Given the description of an element on the screen output the (x, y) to click on. 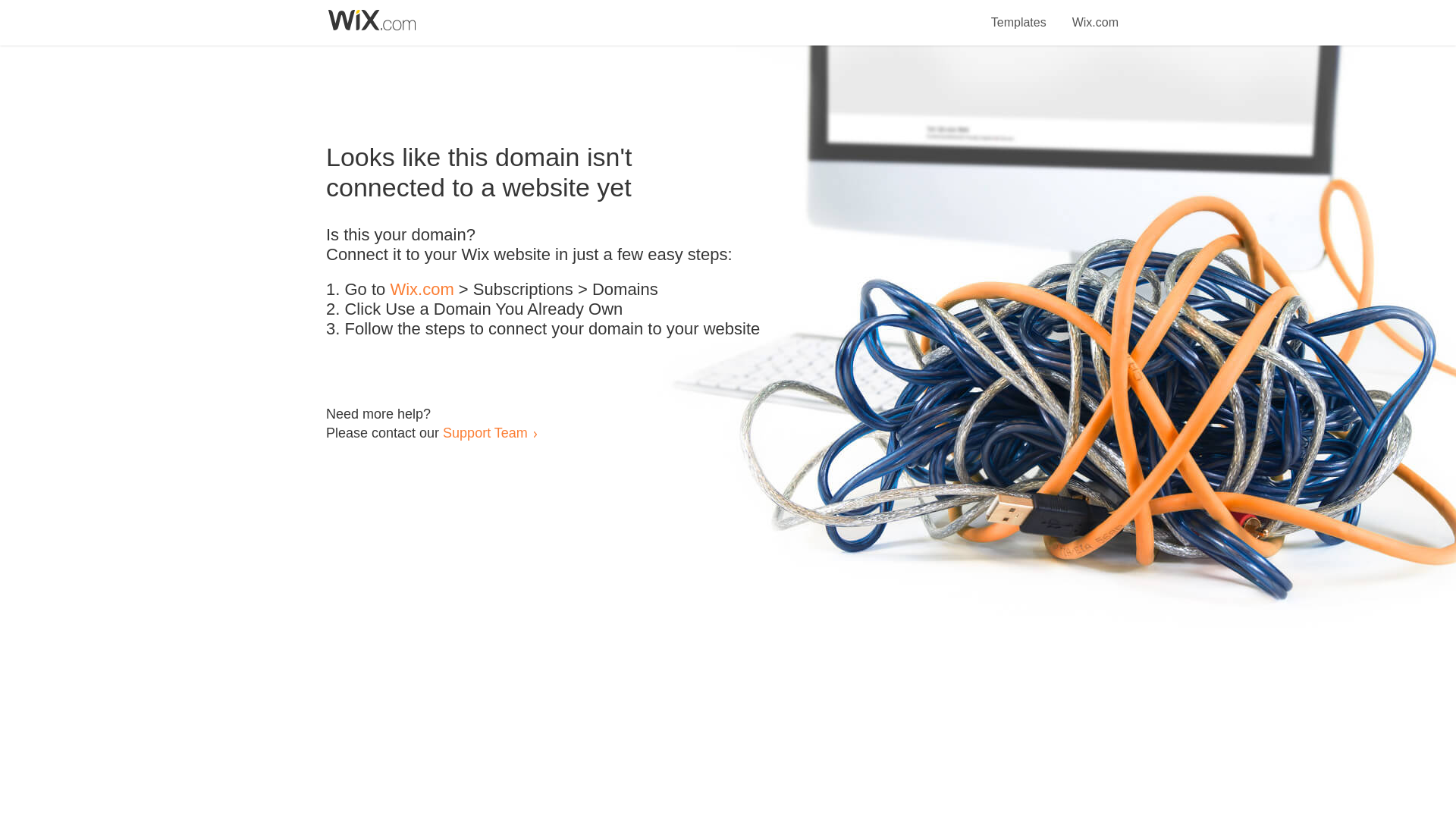
Wix.com (421, 289)
Support Team (484, 432)
Wix.com (1095, 14)
Templates (1018, 14)
